Given the description of an element on the screen output the (x, y) to click on. 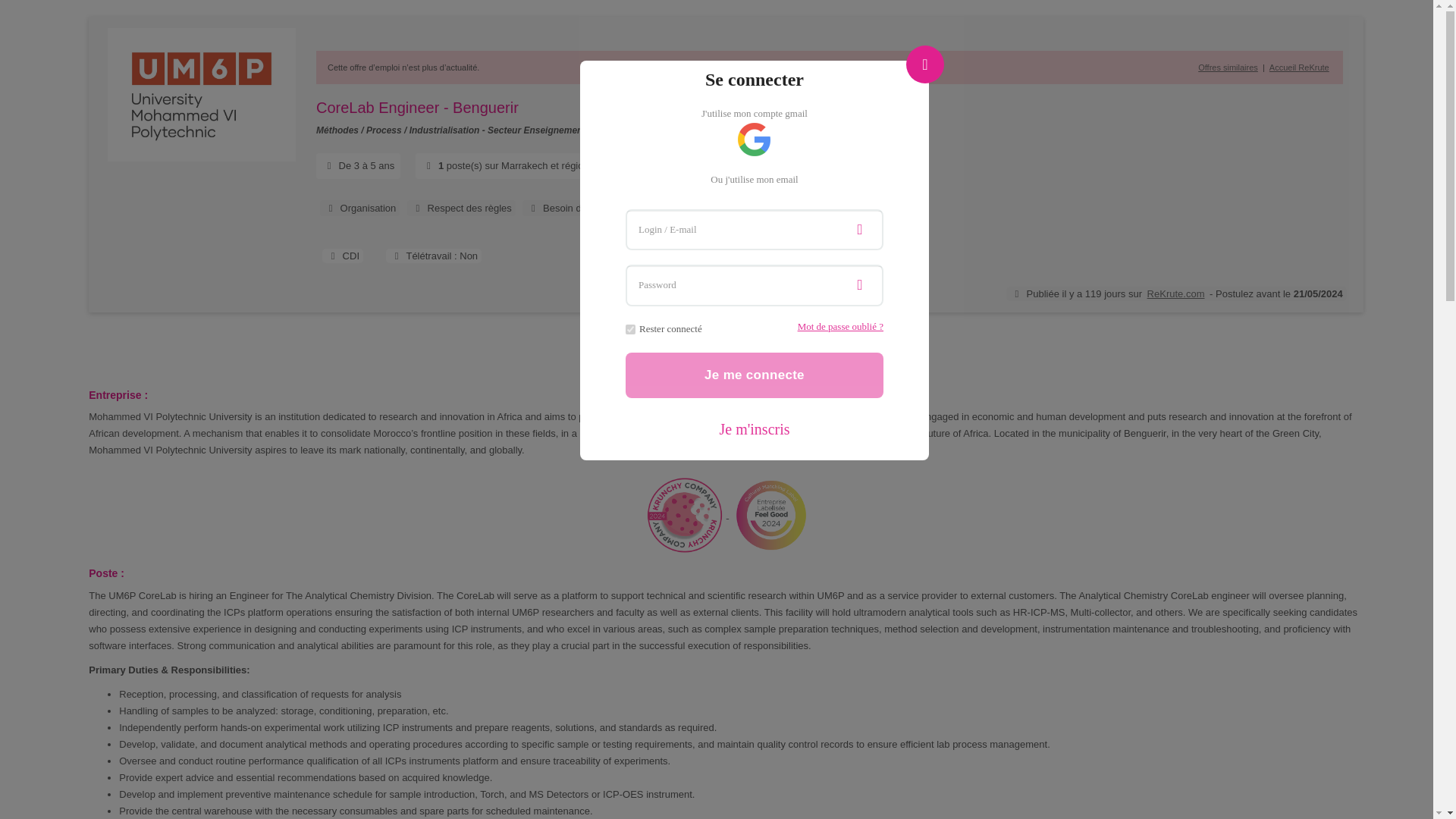
Suivre (746, 351)
Accueil ReKrute (1299, 67)
Type de contrat (346, 256)
ReKrute.com (1176, 293)
Type de contrat (341, 255)
Offres similaires (1227, 67)
 Inscription avec Gmail (754, 139)
Je m'inscris (754, 429)
J'aime (704, 351)
Je m'inscris (754, 429)
true (630, 329)
Je me connecte (754, 375)
